Given the description of an element on the screen output the (x, y) to click on. 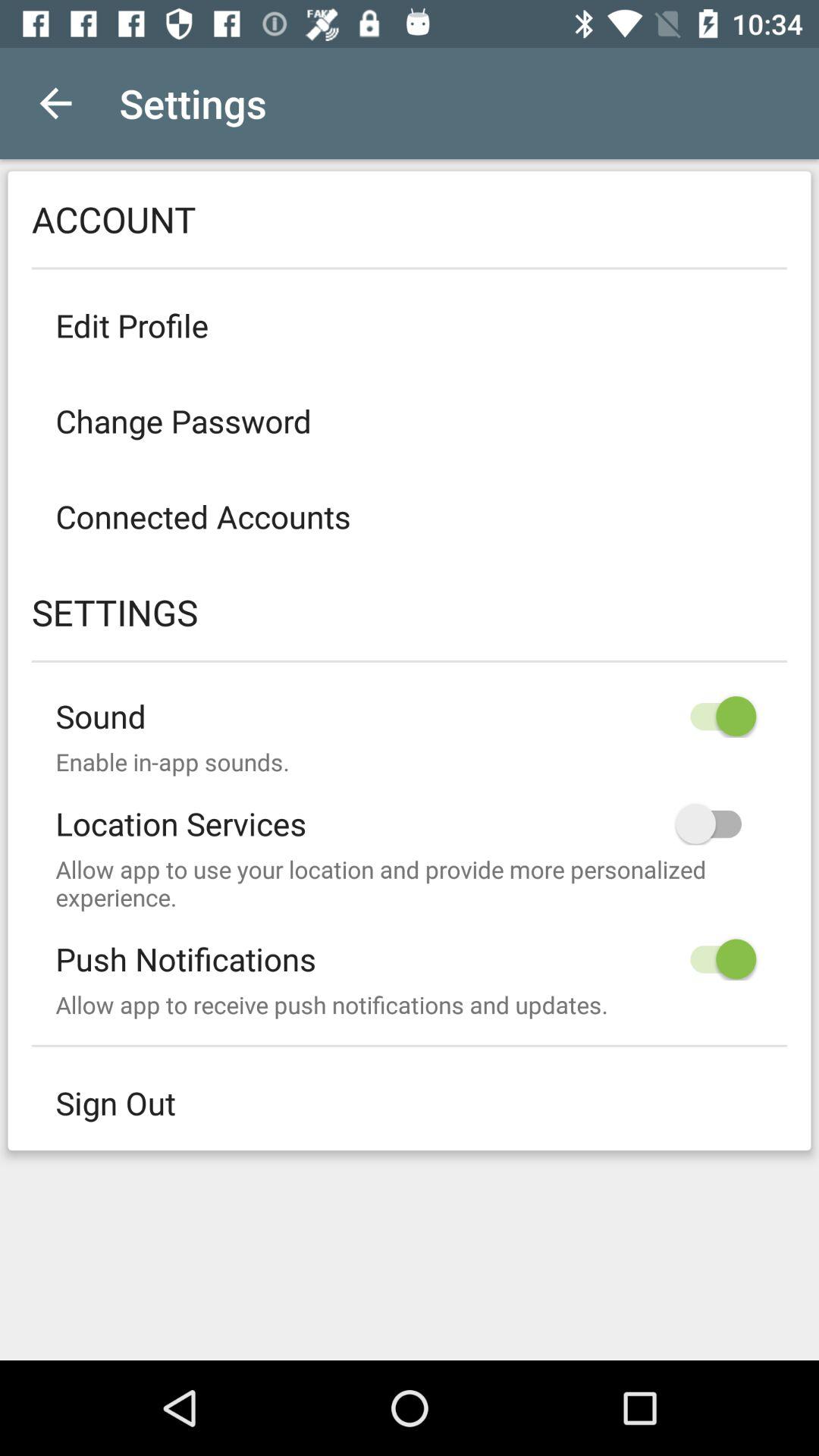
open icon below change password (409, 516)
